Given the description of an element on the screen output the (x, y) to click on. 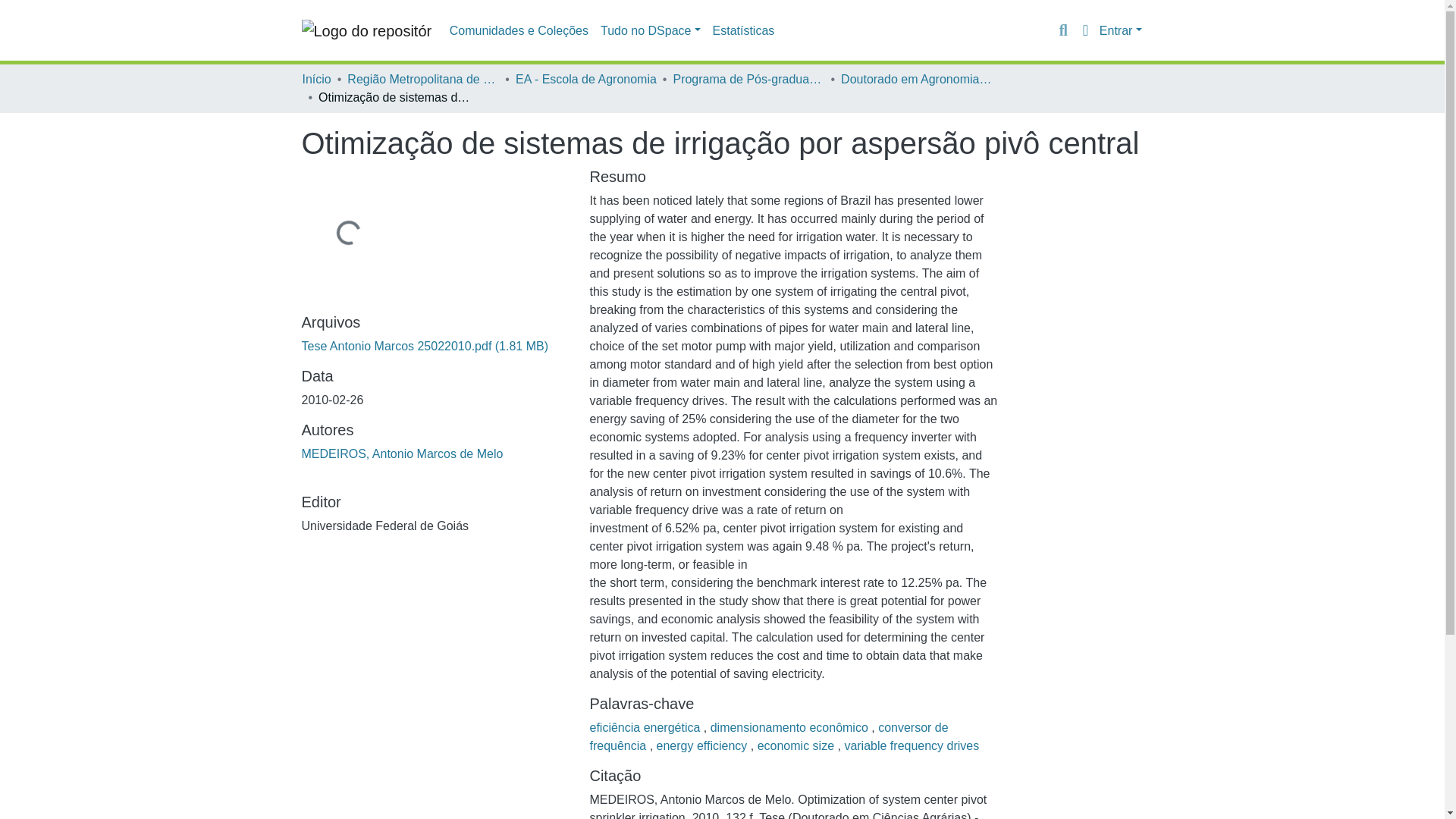
energy efficiency (703, 745)
variable frequency drives (911, 745)
EA - Escola de Agronomia (585, 79)
MEDEIROS, Antonio Marcos de Melo (402, 453)
Entrar (1119, 30)
Selecionar um idioma (1084, 30)
Tudo no DSpace (650, 30)
Buscar (1063, 30)
economic size (797, 745)
